Given the description of an element on the screen output the (x, y) to click on. 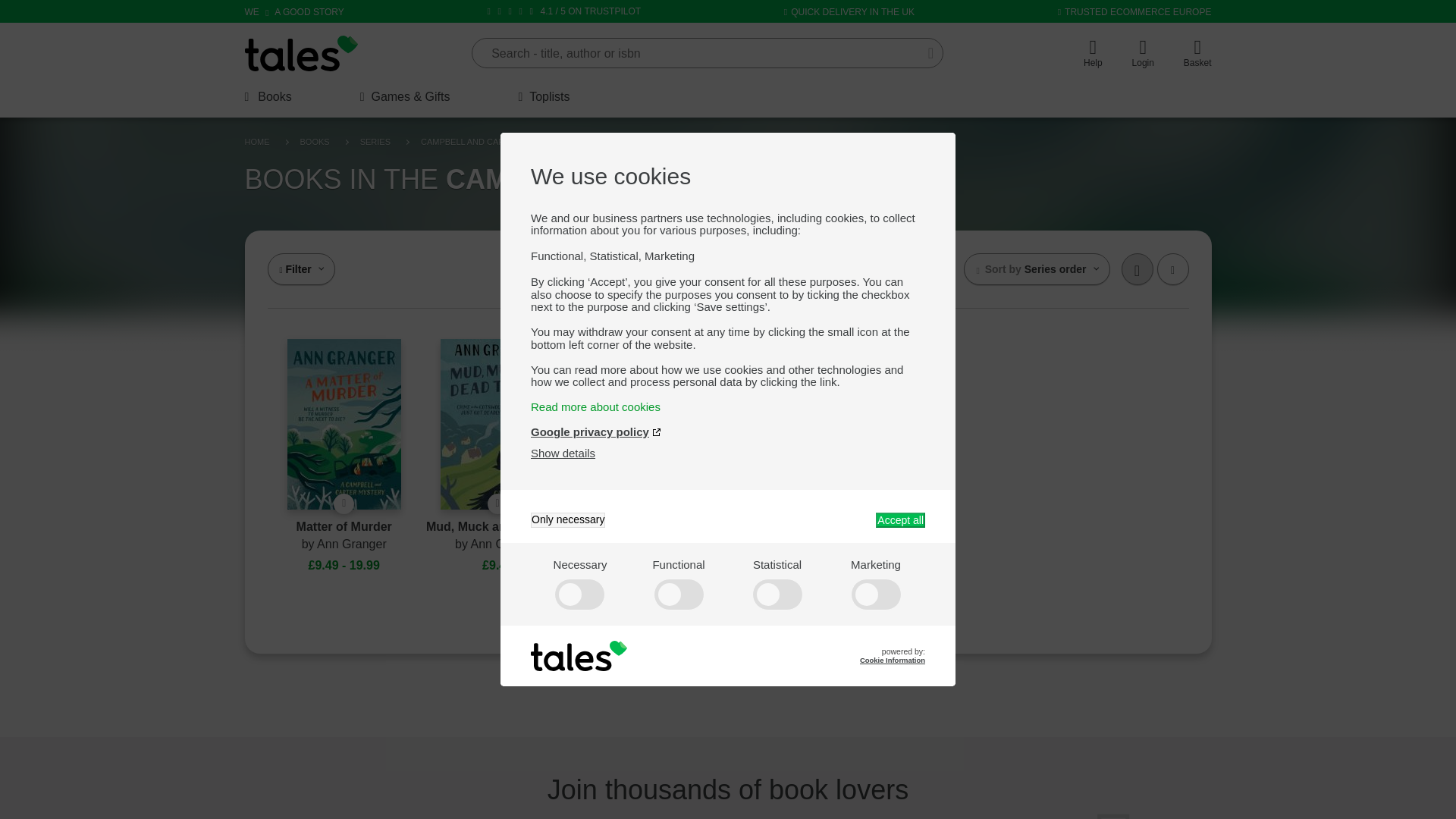
Only necessary (568, 519)
Findes som fysisk bog (497, 503)
Cookie Information (892, 660)
Read more about cookies (727, 406)
Show details (563, 452)
Google privacy policy (596, 431)
Show as rows (1173, 269)
Accept all (900, 519)
Show in columns (1137, 269)
Findes som fysisk bog (343, 503)
tales.as (301, 53)
